Given the description of an element on the screen output the (x, y) to click on. 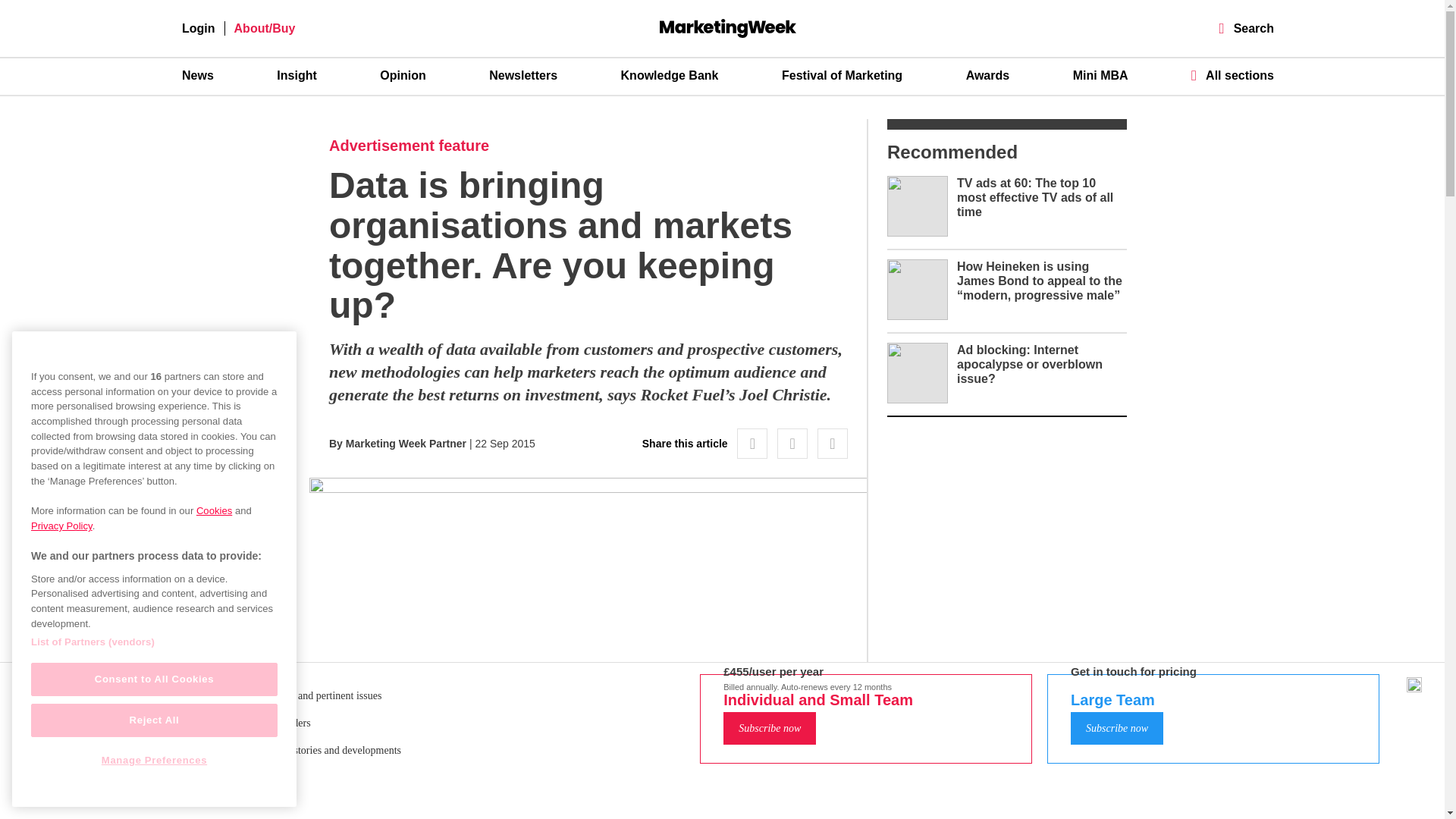
Marketing Week Partner (405, 443)
All sections (1232, 74)
Login (198, 28)
Ad blocking: Internet apocalypse or overblown issue? (1029, 363)
TV ads at 60: The top 10 most effective TV ads of all time (1034, 197)
Knowledge Bank (670, 75)
Search (1247, 28)
Newsletters (523, 75)
Opinion (402, 75)
Mini MBA (1100, 75)
News (198, 75)
All sections (1232, 74)
Posts by Marketing Week Partner (405, 443)
Awards (988, 75)
Insight (295, 75)
